Given the description of an element on the screen output the (x, y) to click on. 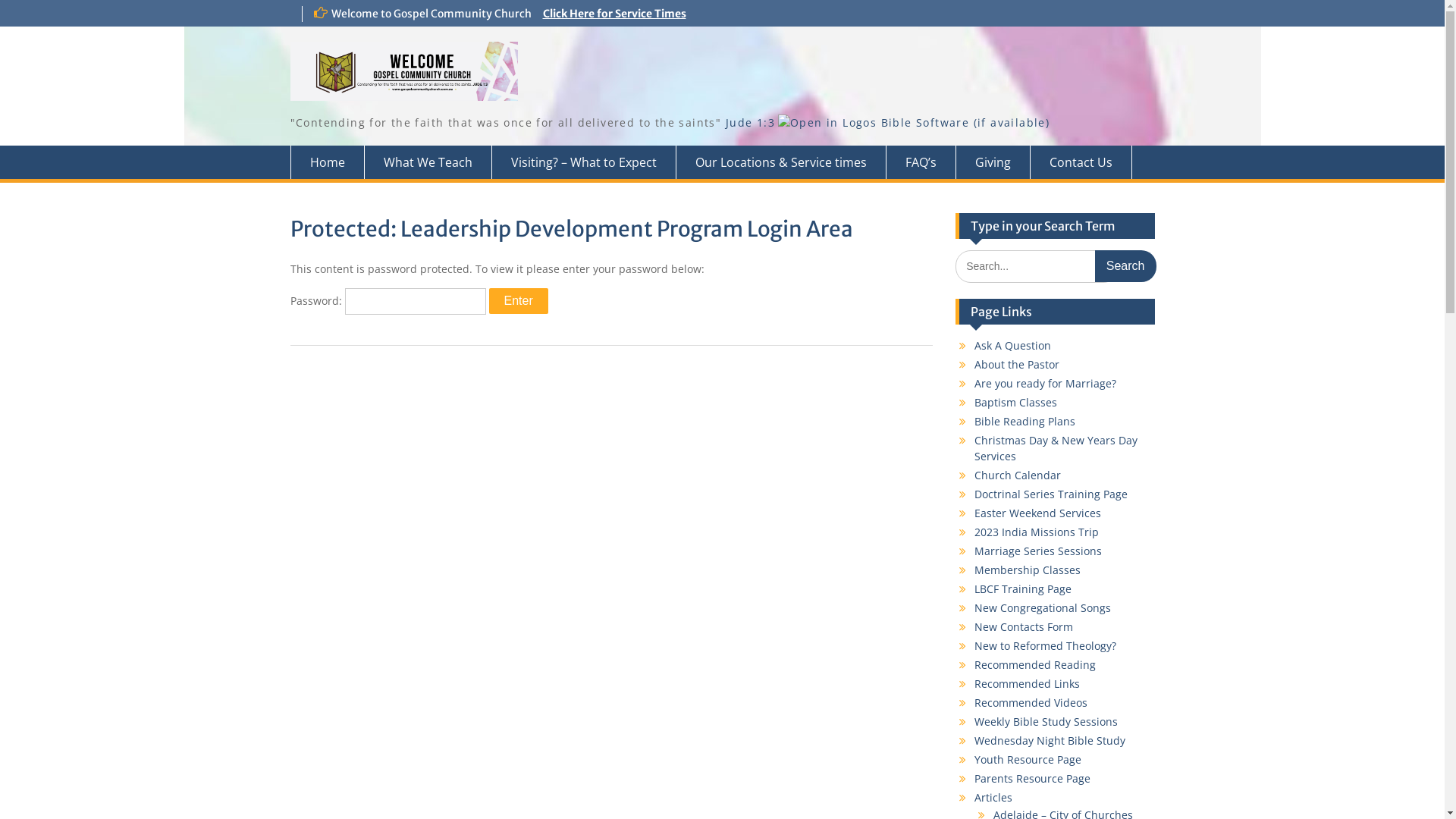
Recommended Links Element type: text (1026, 683)
New Congregational Songs Element type: text (1042, 607)
Membership Classes Element type: text (1027, 569)
LBCF Training Page Element type: text (1022, 588)
Click Here for Service Times Element type: text (614, 13)
Ask A Question Element type: text (1012, 345)
Easter Weekend Services Element type: text (1037, 512)
Enter Element type: text (517, 300)
Search for: Element type: hover (1036, 266)
Giving Element type: text (992, 161)
Parents Resource Page Element type: text (1032, 778)
Jude 1:3 Element type: text (750, 122)
About the Pastor Element type: text (1016, 364)
Home Element type: text (326, 161)
New Contacts Form Element type: text (1023, 626)
Recommended Reading Element type: text (1034, 664)
What We Teach Element type: text (427, 161)
Baptism Classes Element type: text (1015, 402)
Articles Element type: text (993, 797)
Weekly Bible Study Sessions Element type: text (1045, 721)
Contact Us Element type: text (1080, 161)
Doctrinal Series Training Page Element type: text (1050, 493)
Wednesday Night Bible Study Element type: text (1049, 740)
Are you ready for Marriage? Element type: text (1045, 383)
2023 India Missions Trip Element type: text (1036, 531)
Search Element type: text (1125, 266)
Marriage Series Sessions Element type: text (1037, 550)
Our Locations & Service times Element type: text (781, 161)
Christmas Day & New Years Day Services Element type: text (1055, 448)
Open in Logos Bible Software (if available) Element type: hover (913, 122)
Recommended Videos Element type: text (1030, 702)
New to Reformed Theology? Element type: text (1045, 645)
Bible Reading Plans Element type: text (1024, 421)
Skip to content Element type: text (0, 0)
Church Calendar Element type: text (1017, 474)
Youth Resource Page Element type: text (1027, 759)
